Given the description of an element on the screen output the (x, y) to click on. 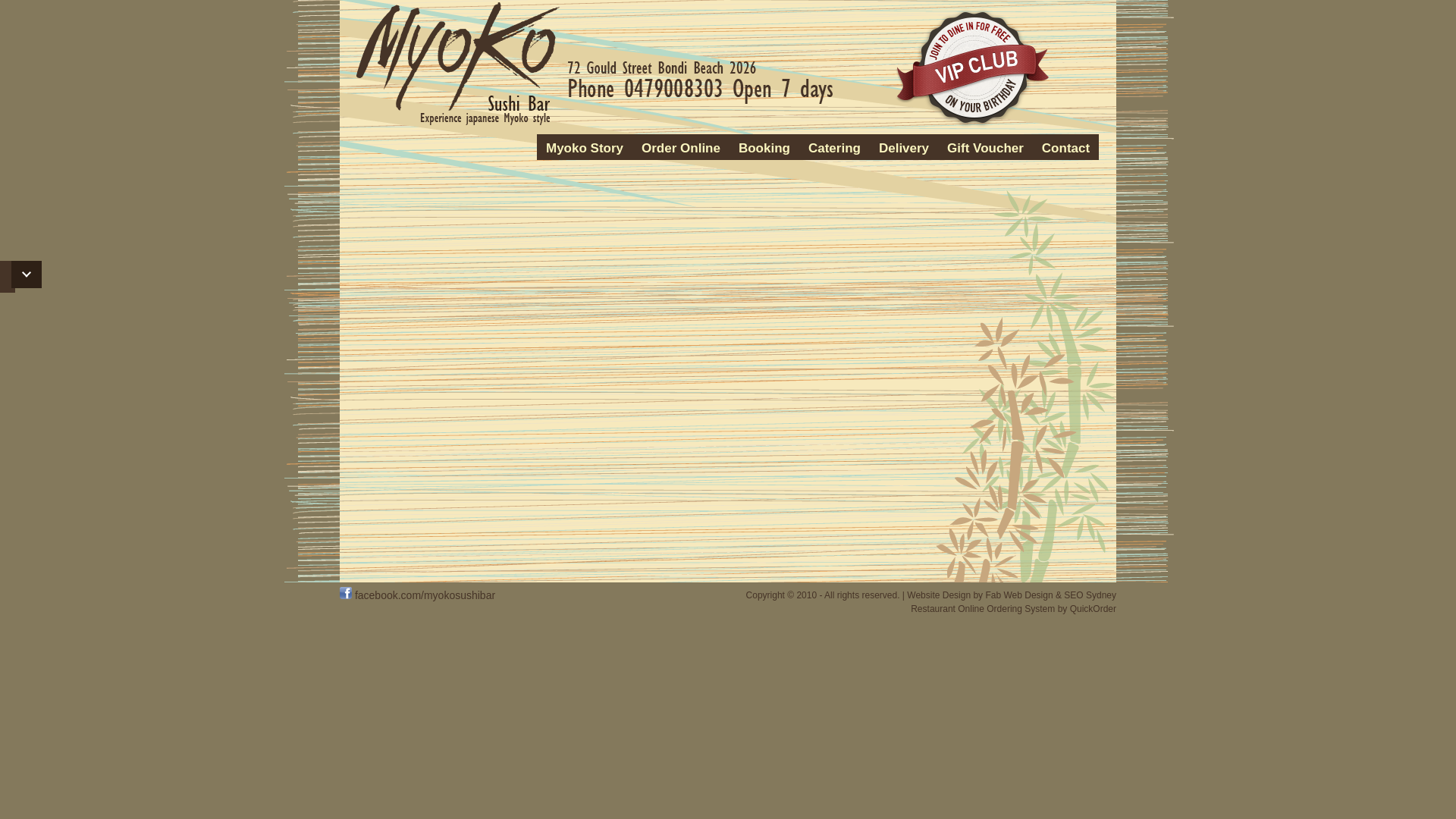
SEO Sydney Element type: text (1089, 594)
Fab Element type: text (993, 594)
Myoko Story Element type: text (584, 148)
Web Design Element type: text (1027, 594)
Website Design Element type: text (938, 594)
facebook.com/myokosushibar Element type: text (417, 593)
Contact Element type: text (1065, 148)
QuickOrder Element type: text (1093, 608)
Delivery Element type: text (903, 148)
Catering Element type: text (834, 148)
Restaurant Online Ordering System Element type: text (982, 608)
Gift Voucher Element type: text (985, 148)
Booking Element type: text (764, 148)
Order Online Element type: text (680, 148)
